Given the description of an element on the screen output the (x, y) to click on. 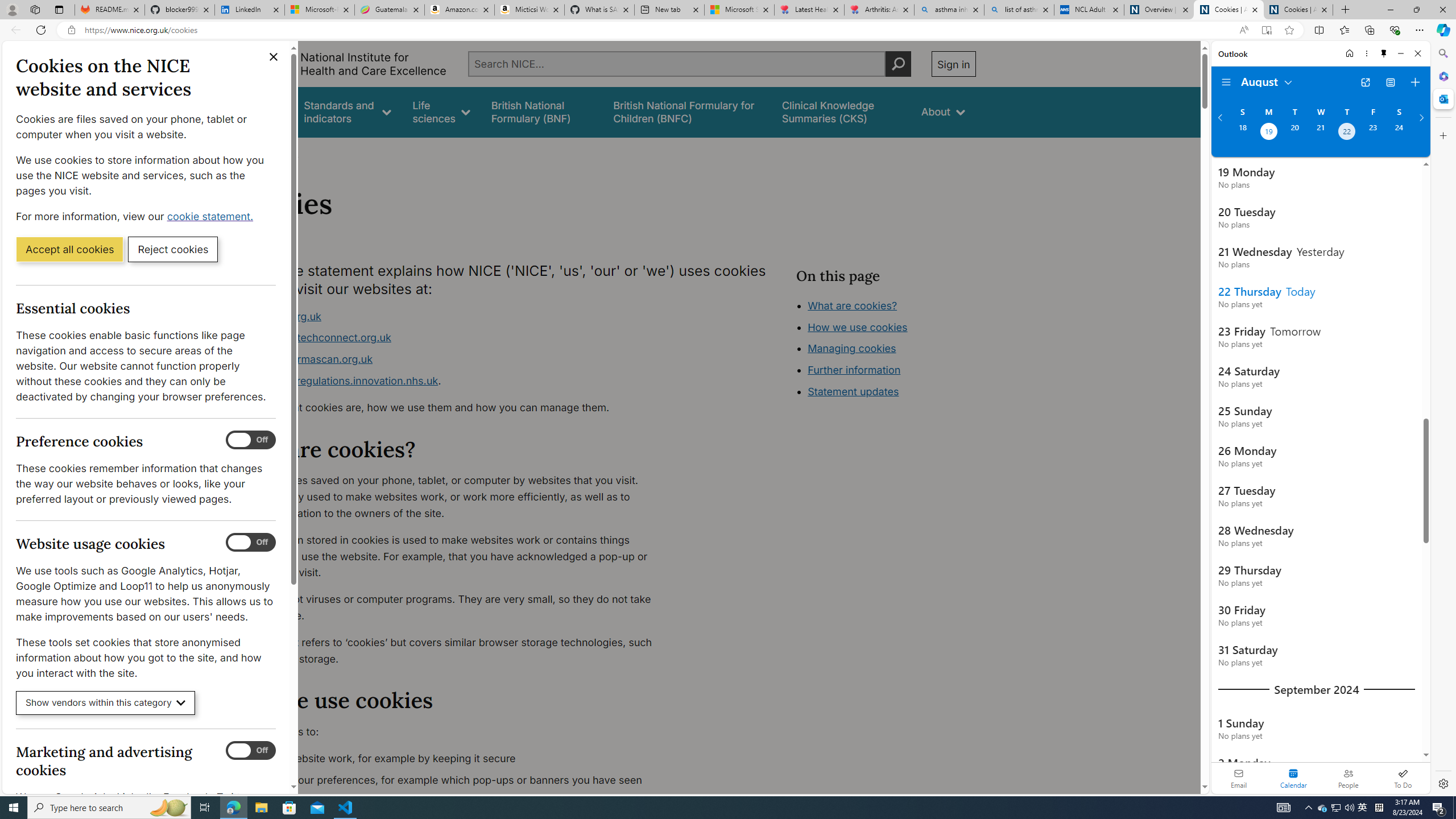
Statement updates (853, 391)
cookie statement. (Opens in a new window) (211, 215)
British National Formulary for Children (BNFC) (686, 111)
New tab (668, 9)
Sign in (952, 63)
NCL Adult Asthma Inhaler Choice Guideline (1088, 9)
Accept all cookies (69, 248)
Sunday, August 18, 2024.  (1242, 132)
Close Outlook pane (1442, 98)
Email (1238, 777)
www.healthtechconnect.org.uk (314, 337)
Tab actions menu (58, 9)
Read aloud this page (Ctrl+Shift+U) (1243, 29)
Selected calendar module. Date today is 22 (1293, 777)
